Given the description of an element on the screen output the (x, y) to click on. 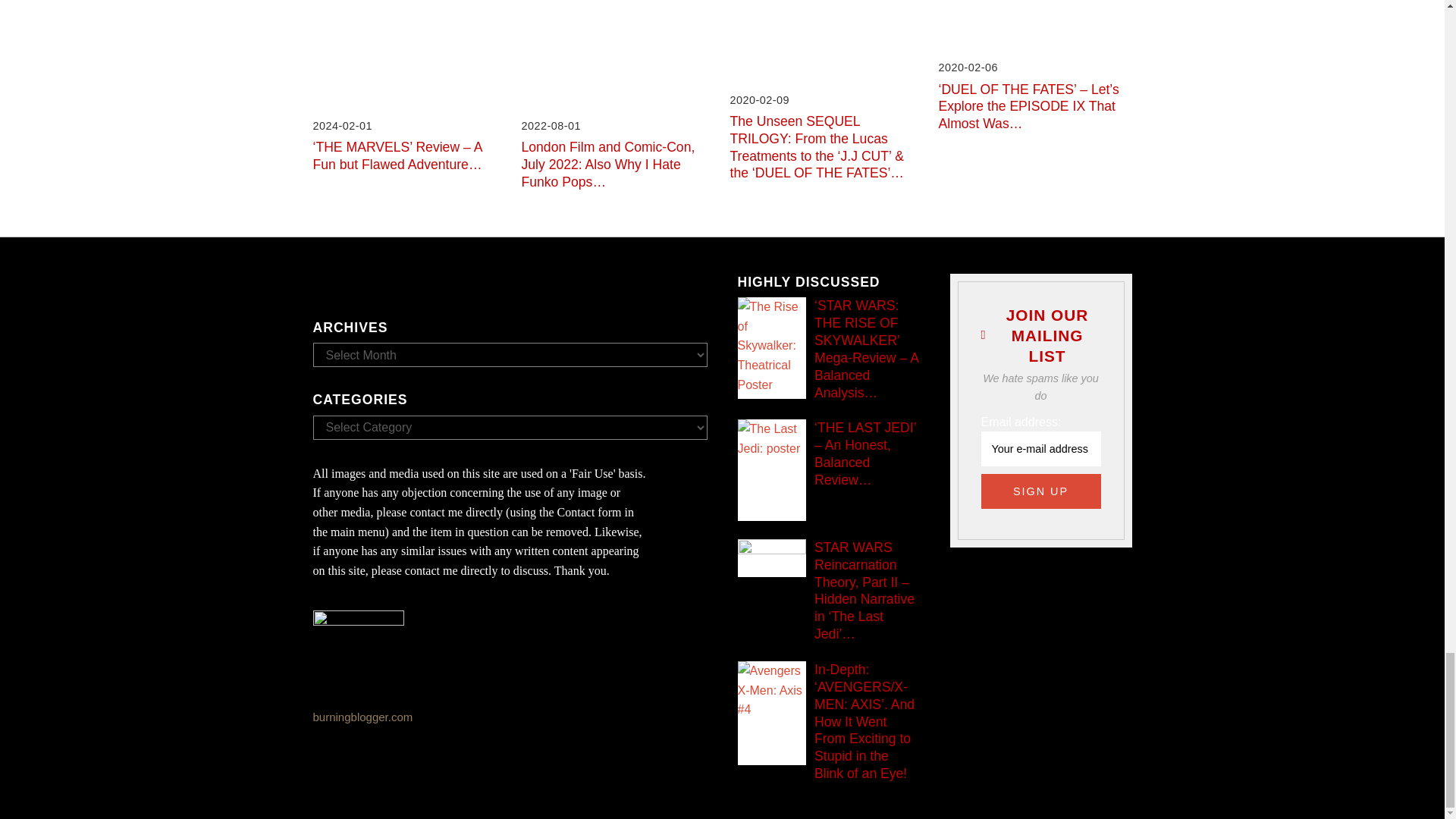
Sign up (1040, 491)
